Given the description of an element on the screen output the (x, y) to click on. 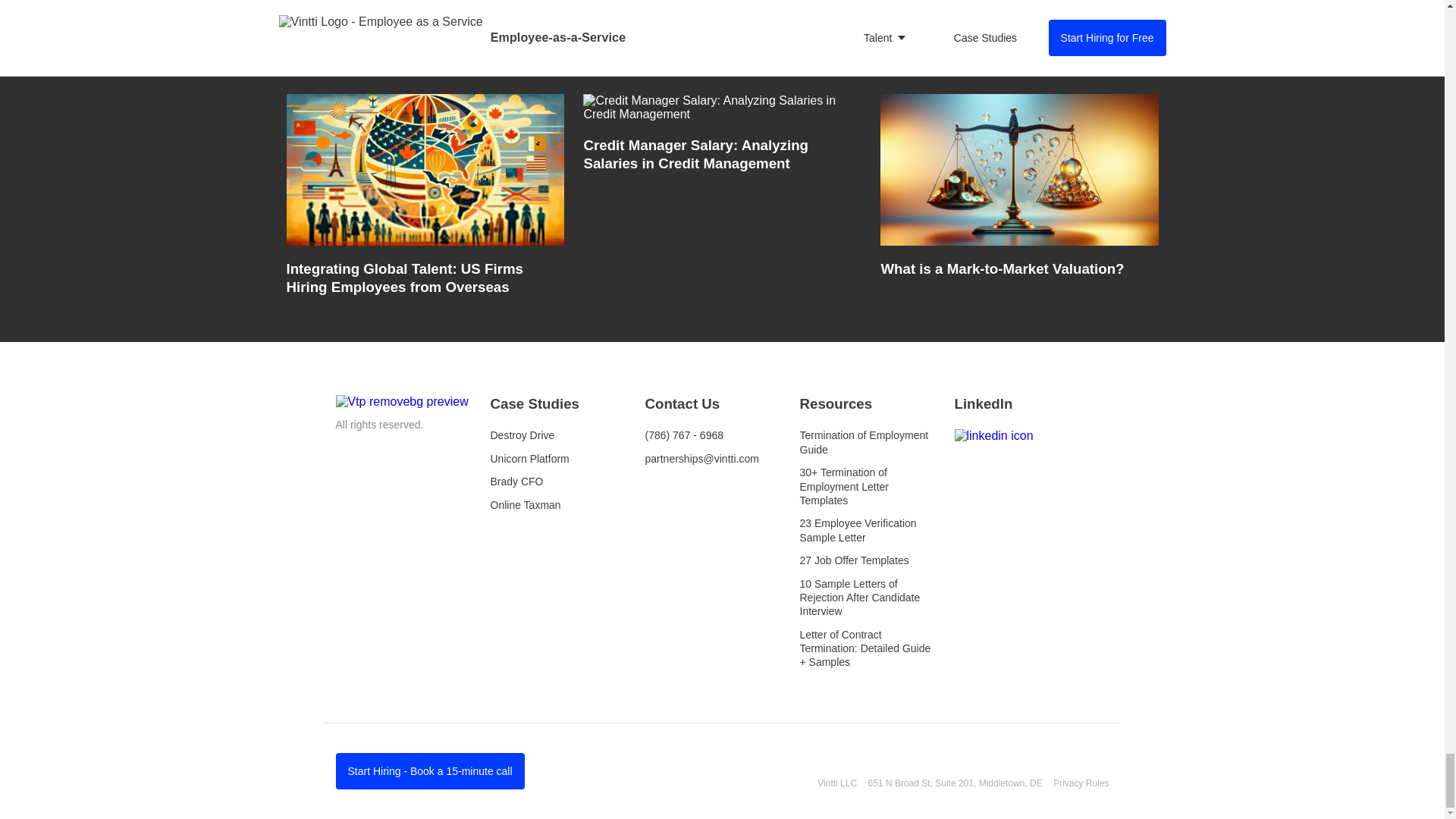
Brady CFO (516, 481)
Online Taxman (524, 504)
Unicorn Platform (529, 458)
Destroy Drive (521, 435)
What is a Mark-to-Market Valuation? (1019, 199)
